Given the description of an element on the screen output the (x, y) to click on. 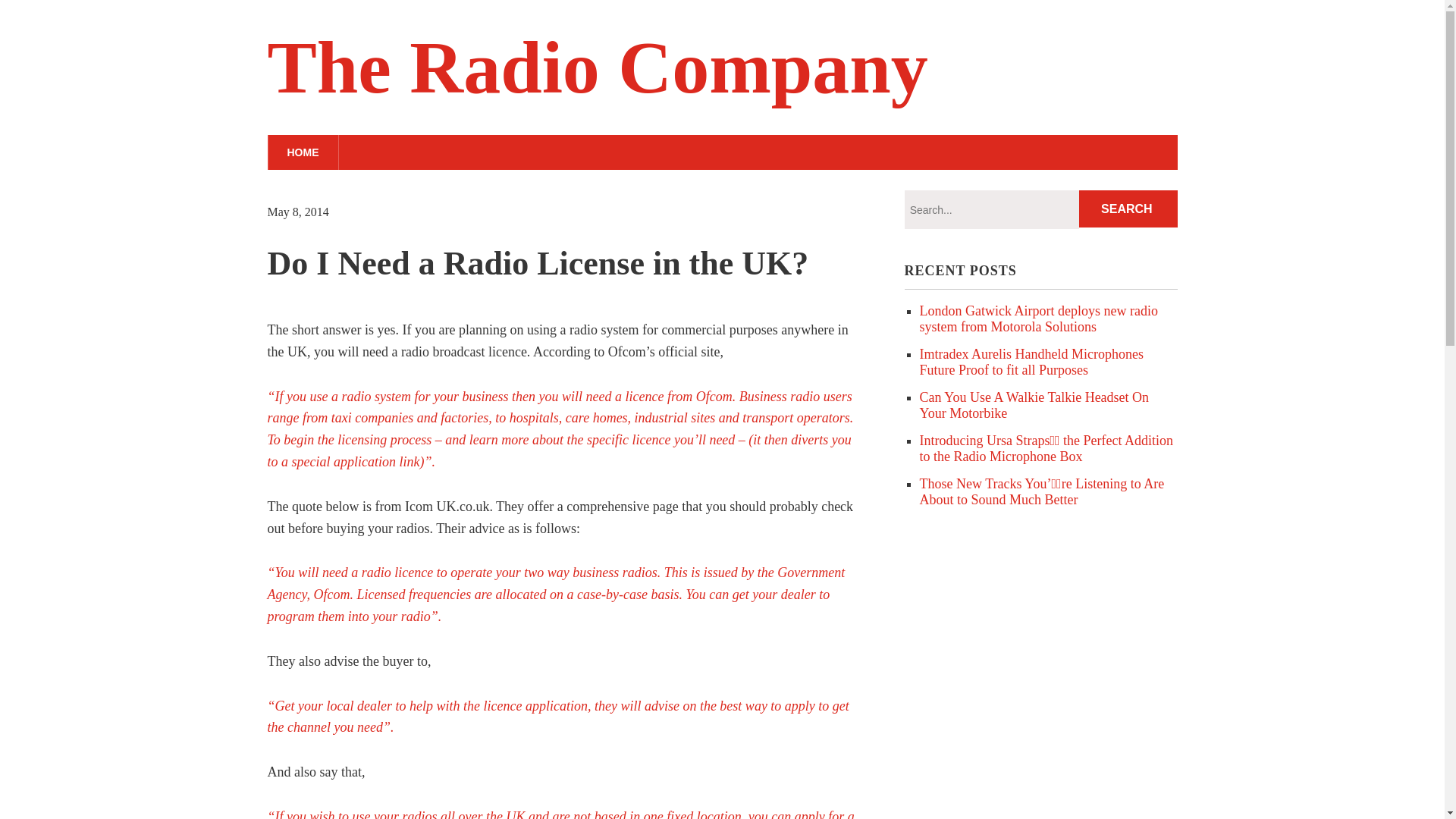
The Radio Company (596, 67)
HOME (301, 152)
The Radio Company (596, 67)
Can You Use A Walkie Talkie Headset On Your Motorbike (1033, 404)
Search (1127, 208)
Search (1127, 208)
